Given the description of an element on the screen output the (x, y) to click on. 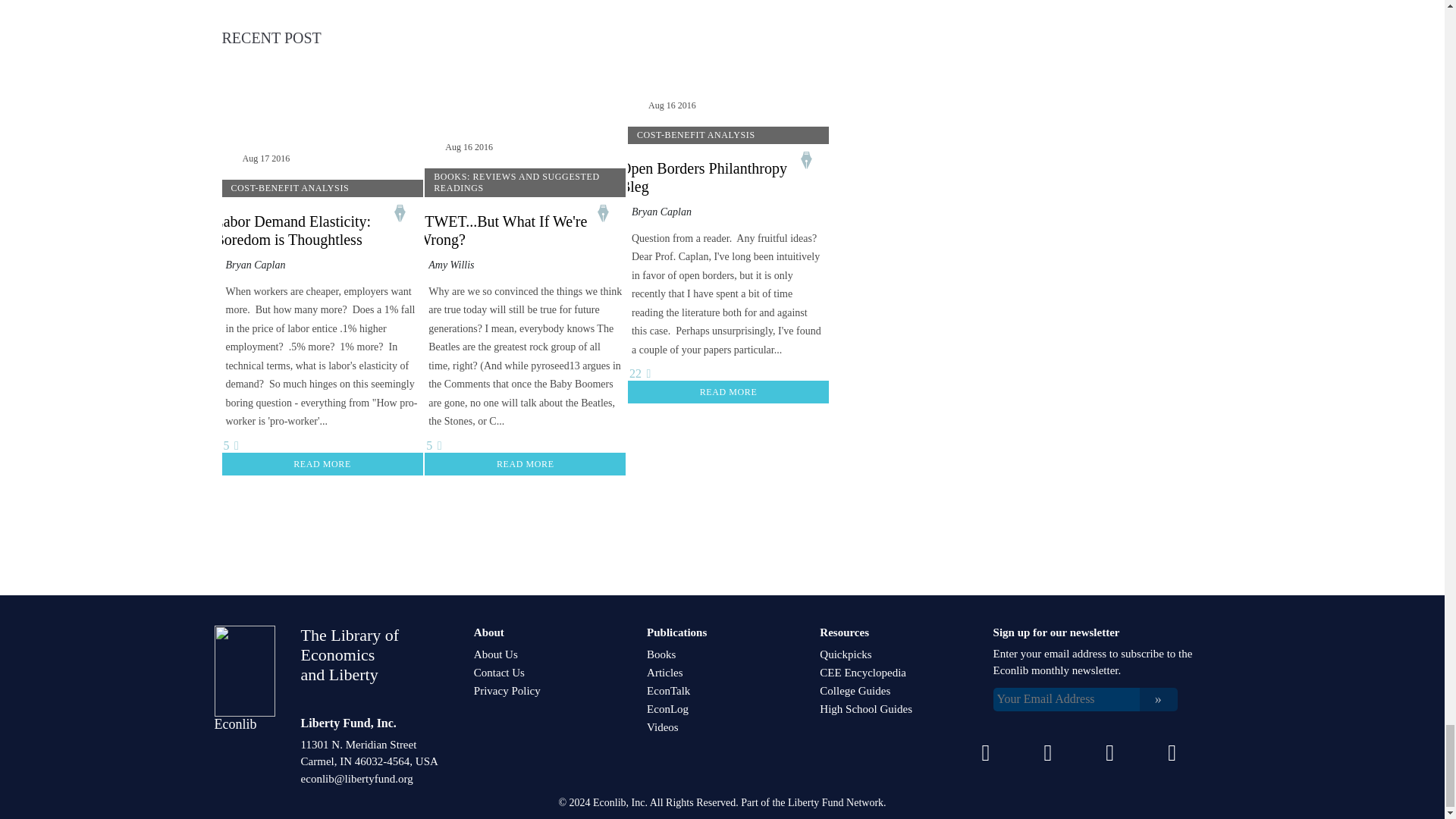
Amy Willis (451, 265)
Bryan Caplan (255, 265)
Bryan Caplan (661, 211)
